Given the description of an element on the screen output the (x, y) to click on. 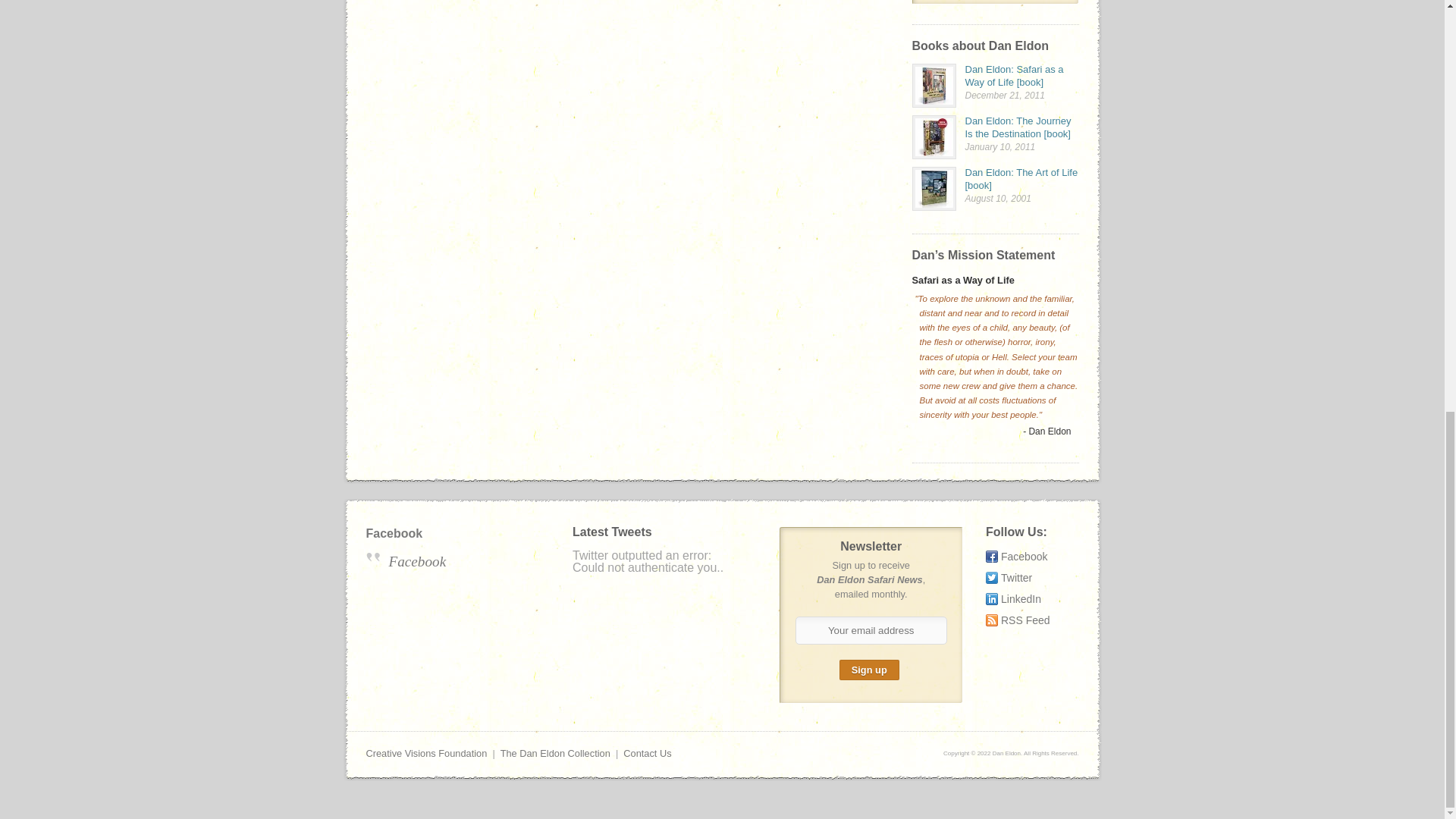
Sign up (869, 670)
